Given the description of an element on the screen output the (x, y) to click on. 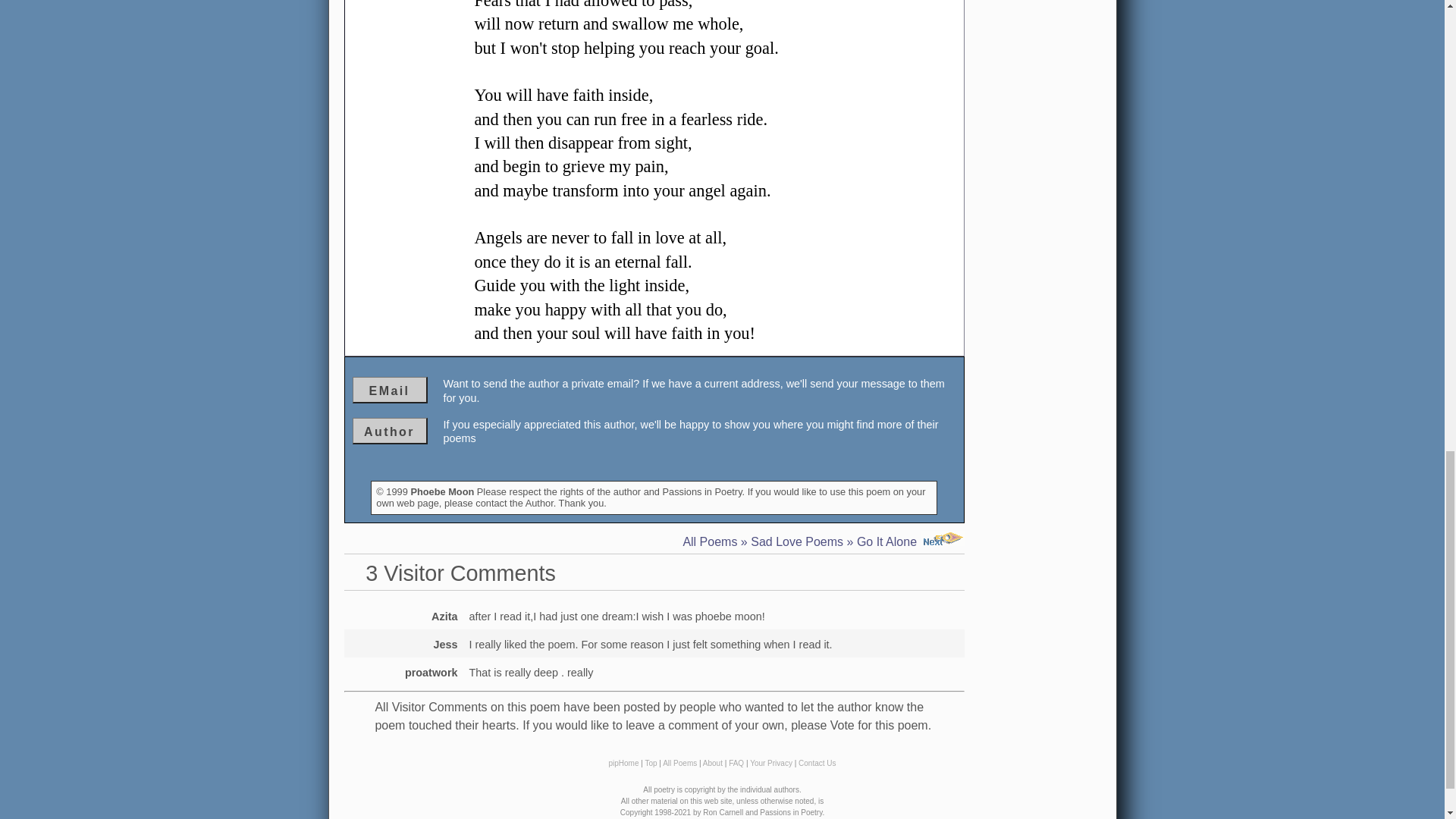
Contact Us (816, 763)
Send the author a private EMail! (389, 389)
EMail (389, 389)
Go It Alone (910, 541)
Top (650, 763)
All Poems (709, 541)
About (712, 763)
Find a list of other poems by this writer! (389, 430)
Frequently Asked Questions (736, 763)
Comments (653, 643)
